Given the description of an element on the screen output the (x, y) to click on. 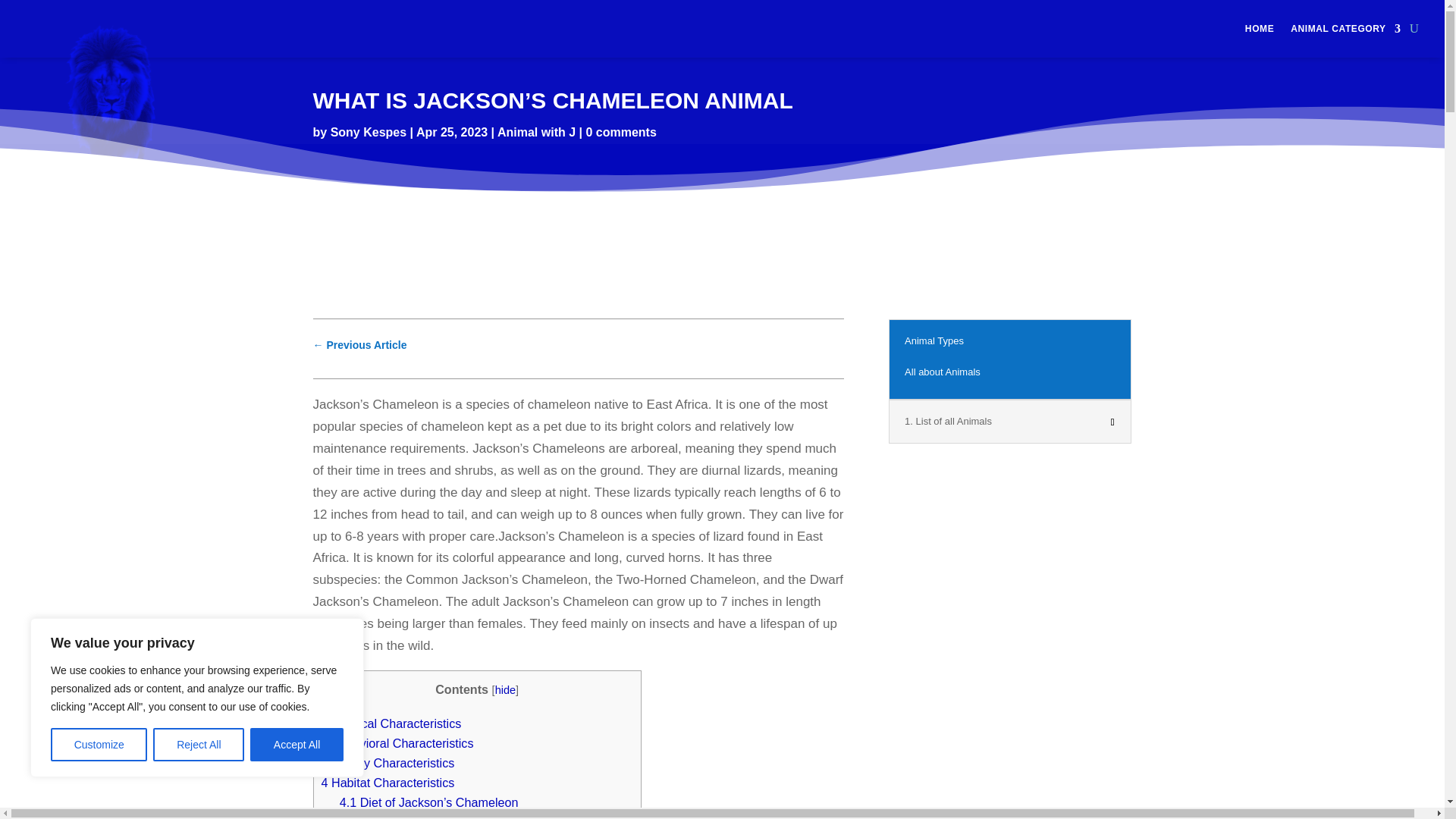
Posts by Sony Kespes (368, 132)
Reject All (198, 744)
Accept All (296, 744)
Customize (98, 744)
ANIMAL CATEGORY (1345, 28)
